Given the description of an element on the screen output the (x, y) to click on. 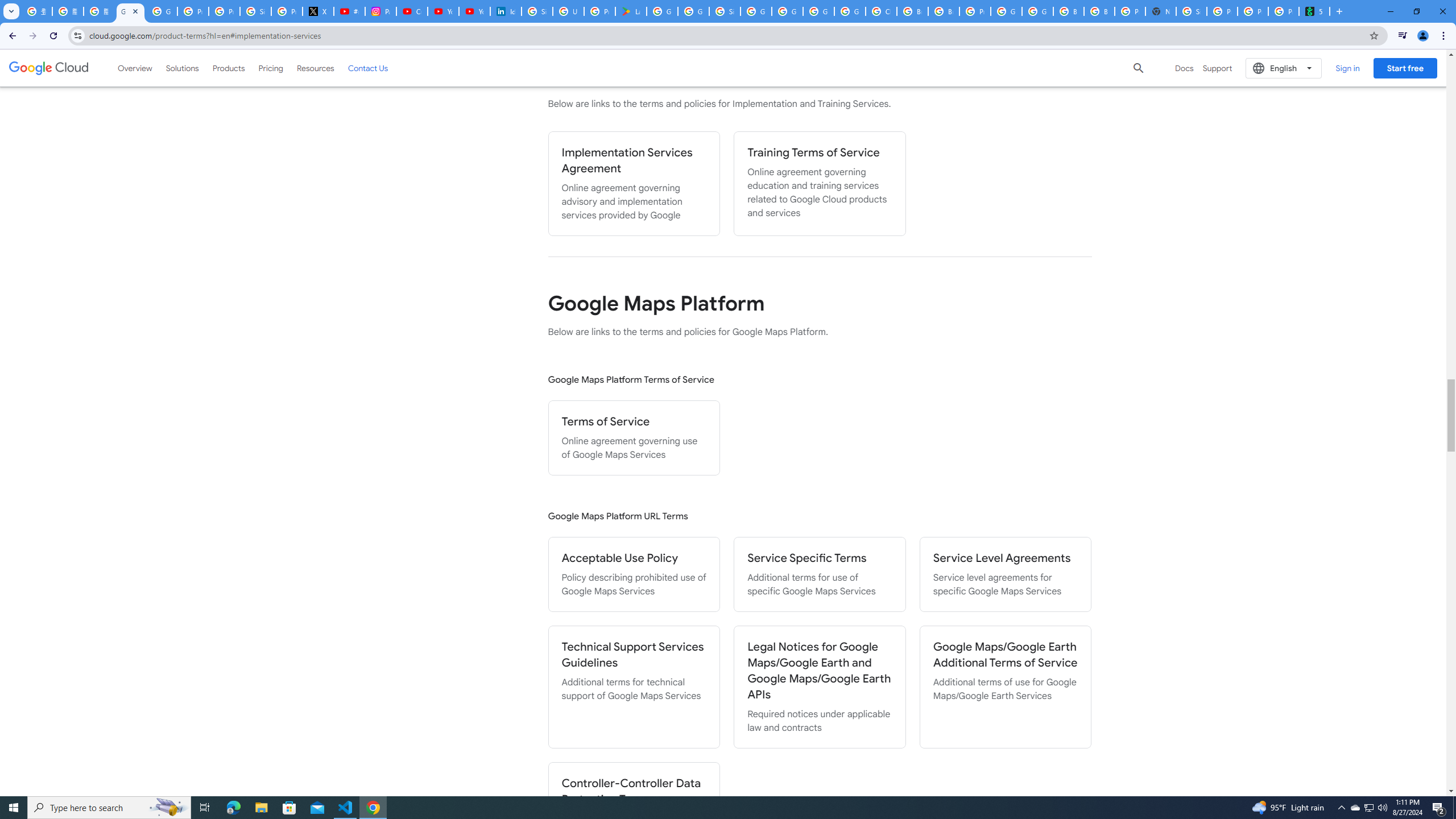
Last Shelter: Survival - Apps on Google Play (631, 11)
Google Cloud Terms Directory | Google Cloud (130, 11)
YouTube Culture & Trends - YouTube Top 10, 2021 (474, 11)
Sign in - Google Accounts (724, 11)
Solutions (181, 67)
Resources (314, 67)
